Given the description of an element on the screen output the (x, y) to click on. 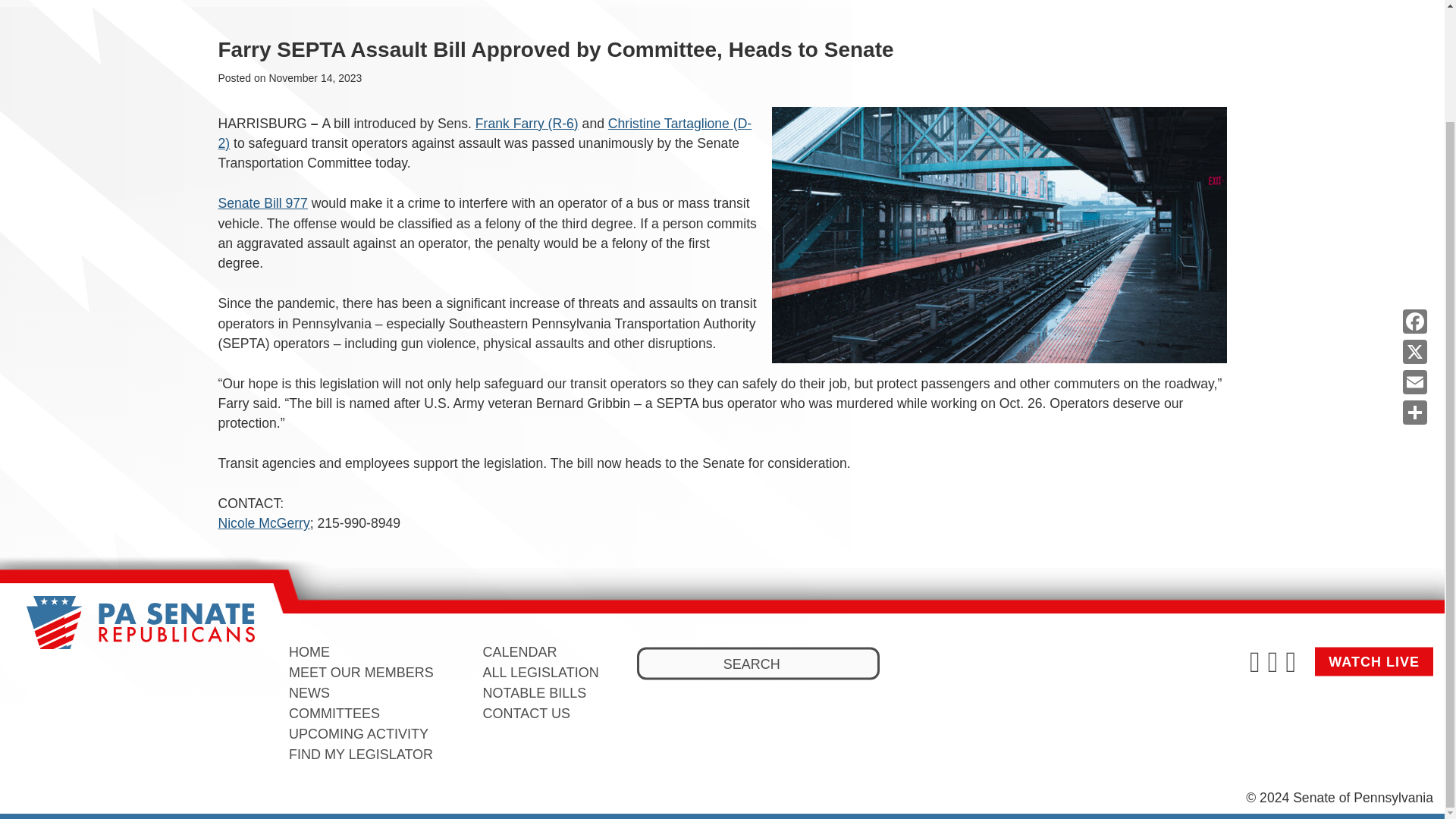
Email (1414, 249)
Search for: (758, 663)
Facebook (1414, 188)
X (1414, 218)
